Given the description of an element on the screen output the (x, y) to click on. 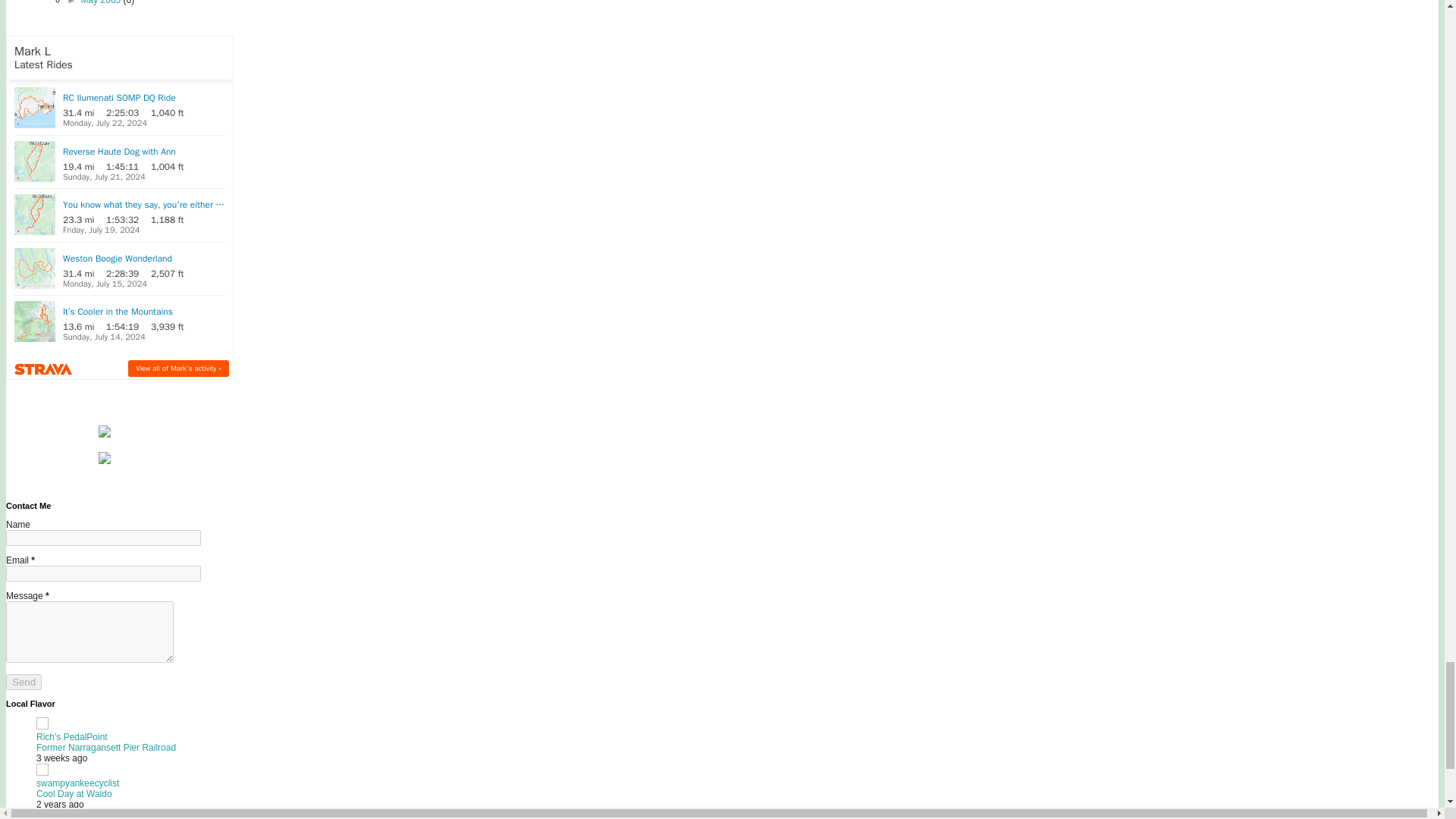
Send (23, 682)
